Given the description of an element on the screen output the (x, y) to click on. 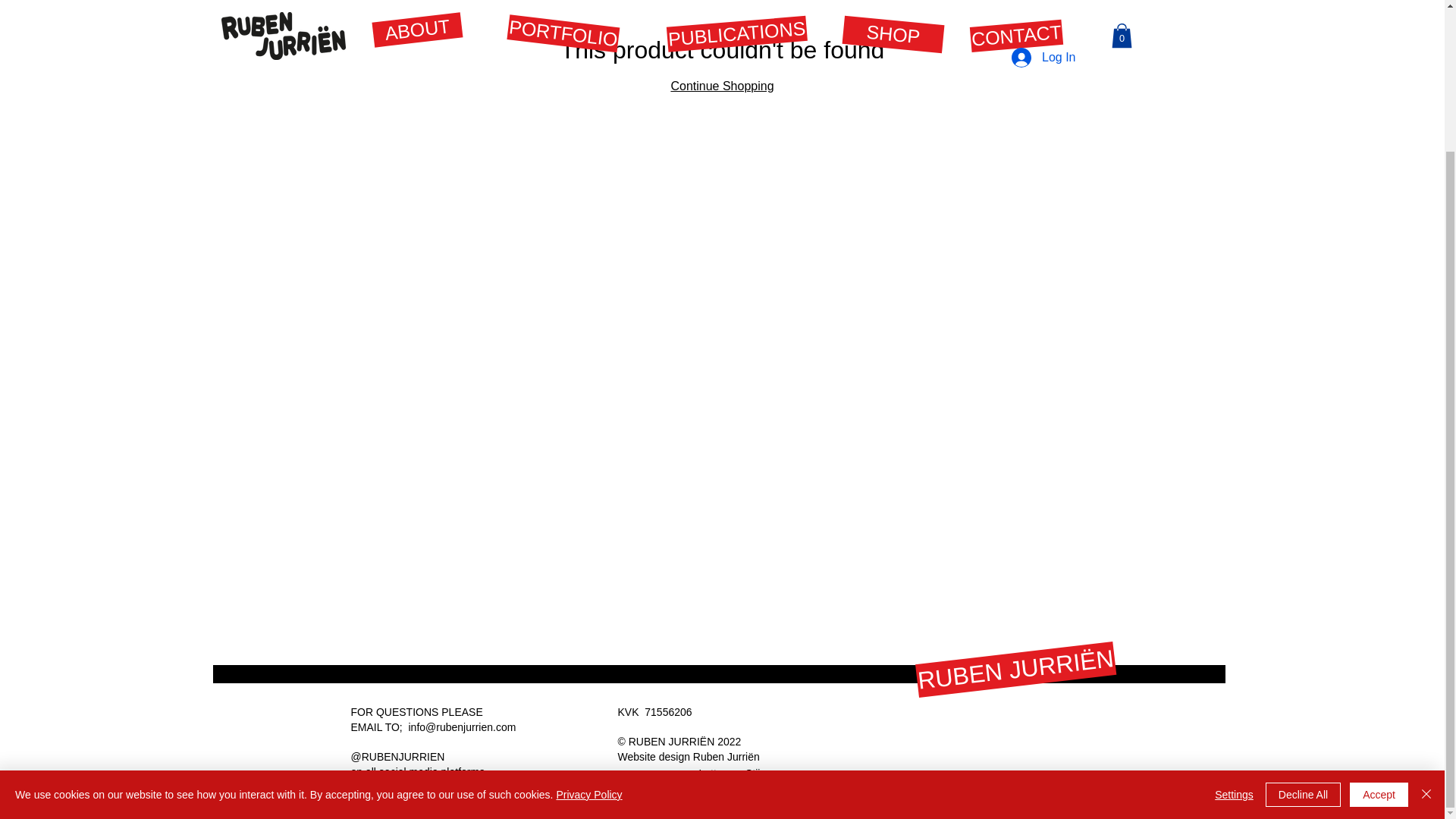
Accept (1378, 619)
Continue Shopping (721, 85)
Decline All (1302, 619)
Privacy Policy (588, 619)
